Given the description of an element on the screen output the (x, y) to click on. 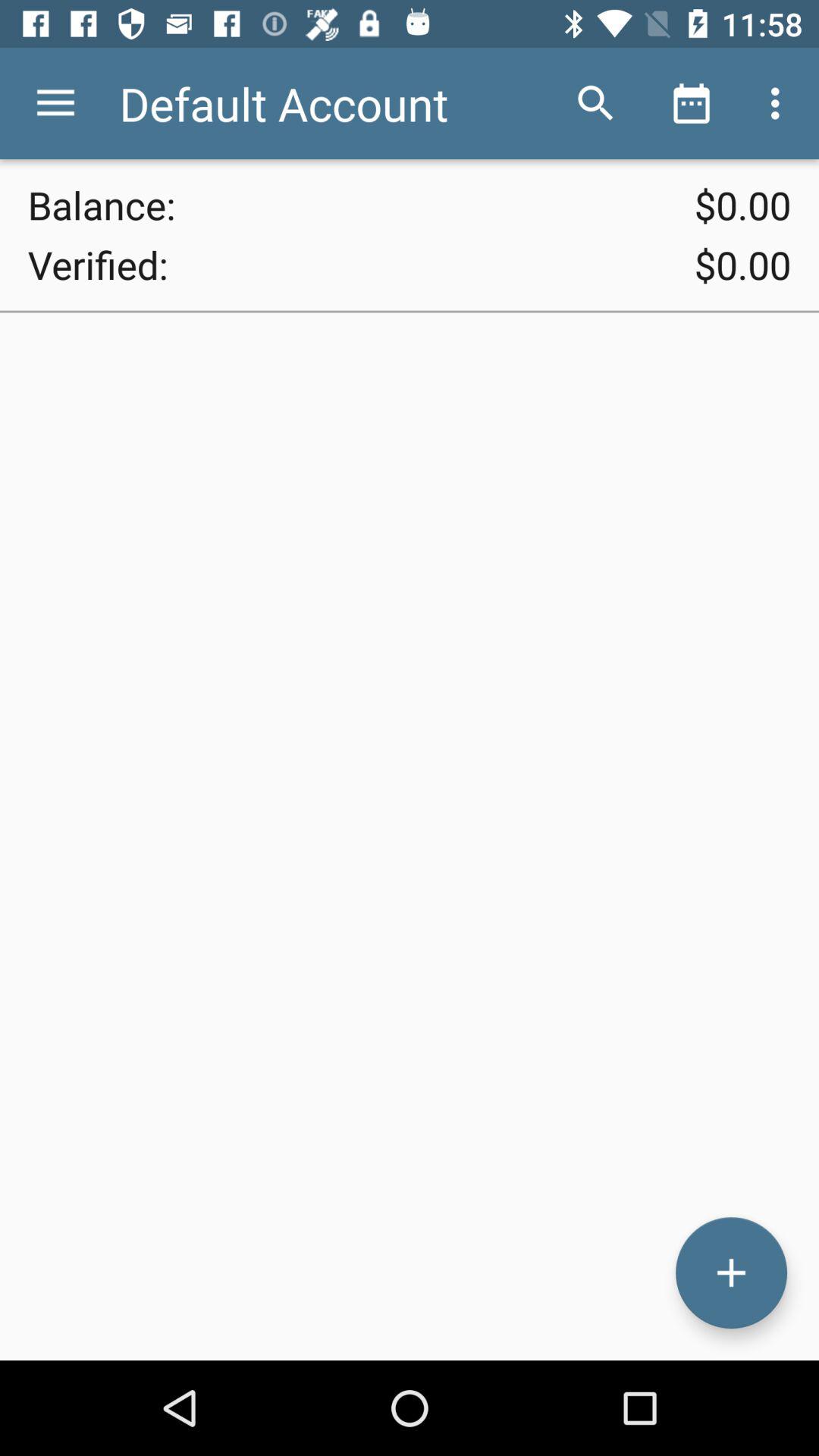
launch icon to the left of the default account item (55, 103)
